Given the description of an element on the screen output the (x, y) to click on. 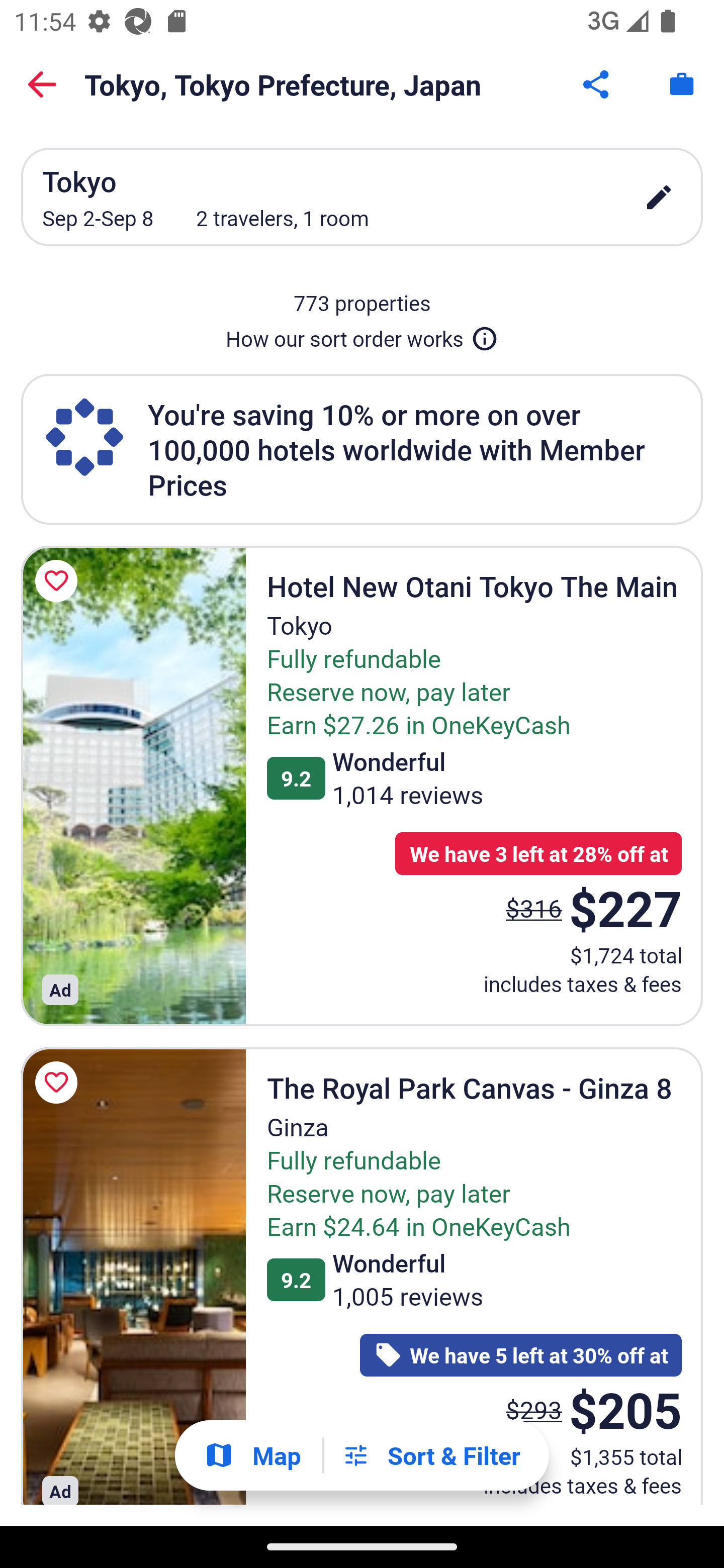
Back (42, 84)
Share Button (597, 84)
Trips. Button (681, 84)
Tokyo Sep 2-Sep 8 2 travelers, 1 room edit (361, 196)
How our sort order works (361, 334)
Save Hotel New Otani Tokyo The Main to a trip (59, 580)
Hotel New Otani Tokyo The Main (133, 785)
$316 The price was $316 (533, 907)
Save The Royal Park Canvas - Ginza 8 to a trip (59, 1081)
The Royal Park Canvas - Ginza 8 (133, 1276)
$293 The price was $293 (533, 1409)
Filters Sort & Filter Filters Button (430, 1455)
Show map Map Show map Button (252, 1455)
